Given the description of an element on the screen output the (x, y) to click on. 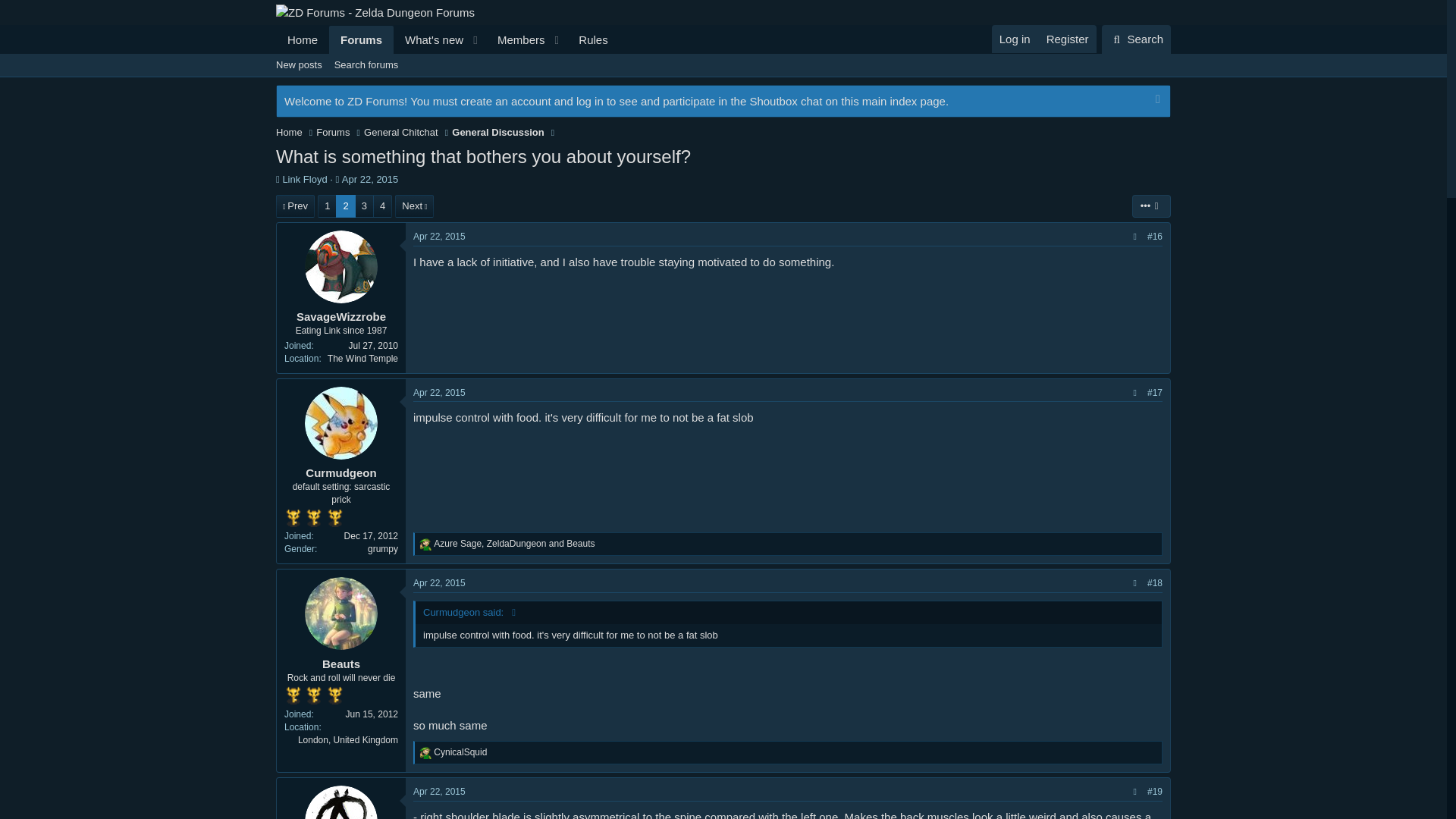
Members (516, 39)
Rules (447, 39)
Link Floyd (592, 39)
Search (304, 179)
Apr 22, 2015 at 1:34 AM (1136, 39)
Search (369, 179)
Home (1136, 39)
Search forums (302, 39)
Apr 22, 2015 (366, 65)
